Given the description of an element on the screen output the (x, y) to click on. 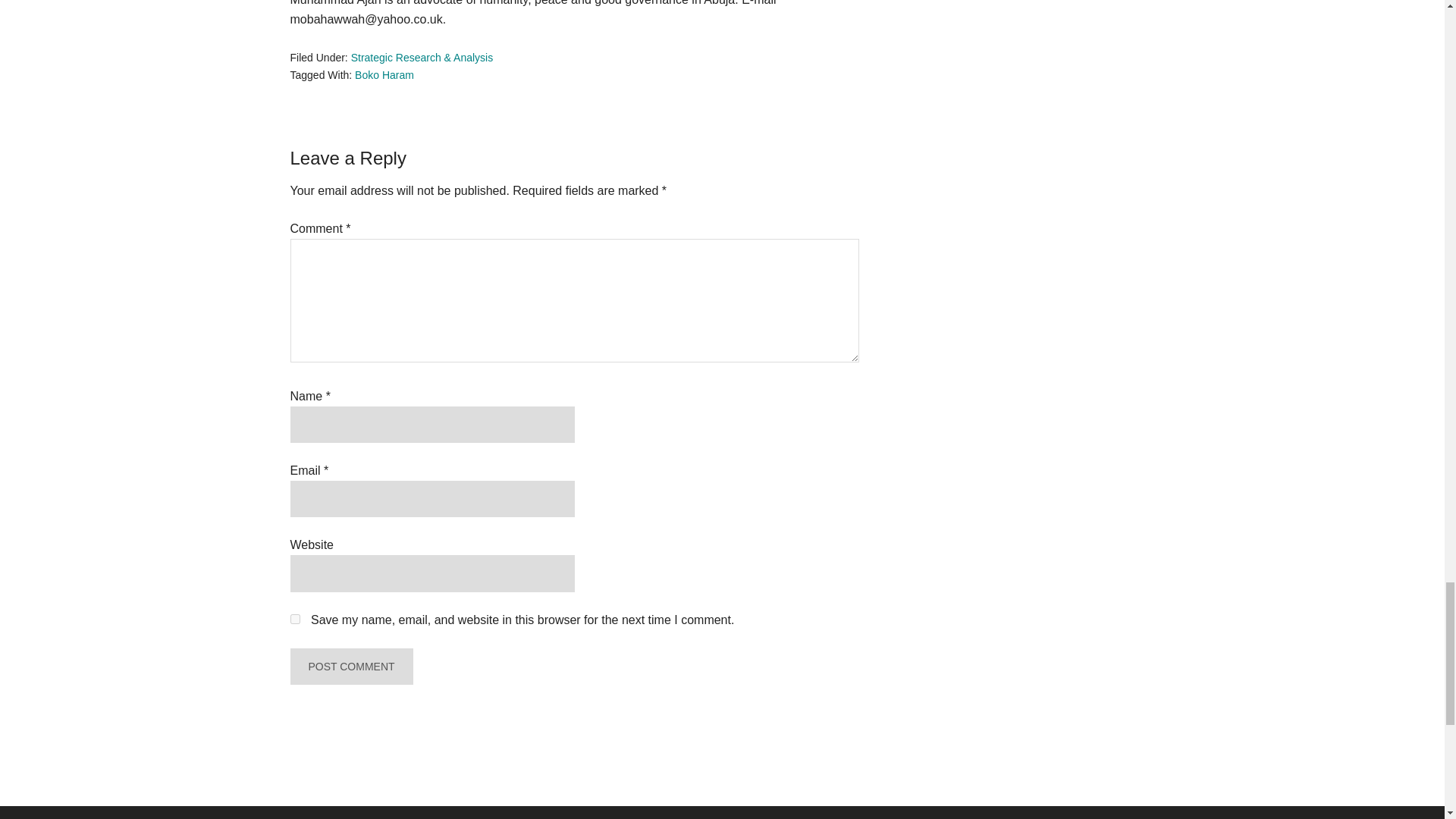
Boko Haram (384, 74)
yes (294, 619)
Post Comment (350, 665)
Post Comment (350, 665)
